Given the description of an element on the screen output the (x, y) to click on. 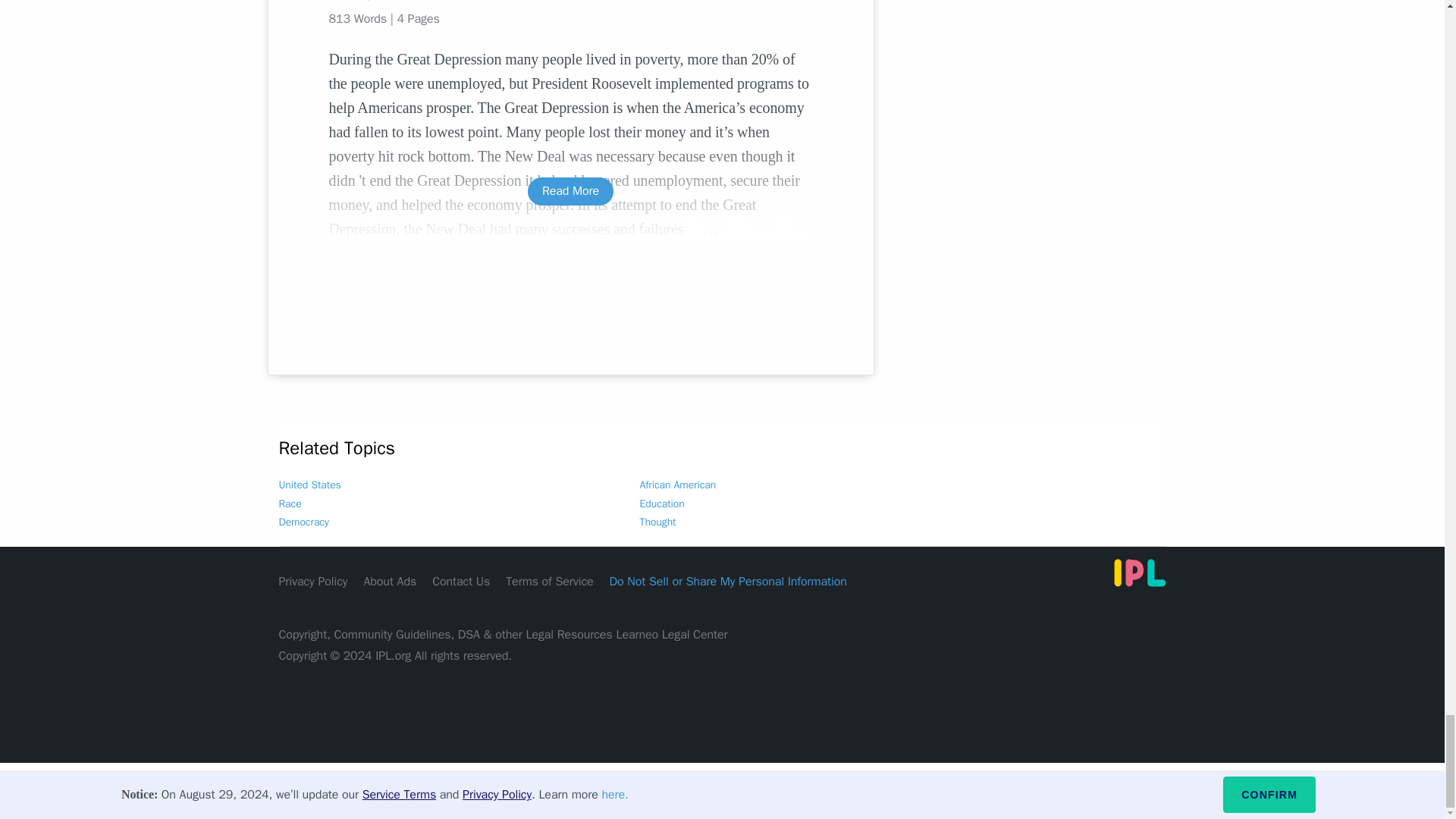
Privacy Policy (313, 581)
Contact Us (460, 581)
United States (309, 484)
Race (290, 503)
About Ads (389, 581)
Education (662, 503)
Thought (658, 521)
African American (678, 484)
Terms of Service (548, 581)
Democracy (304, 521)
